Given the description of an element on the screen output the (x, y) to click on. 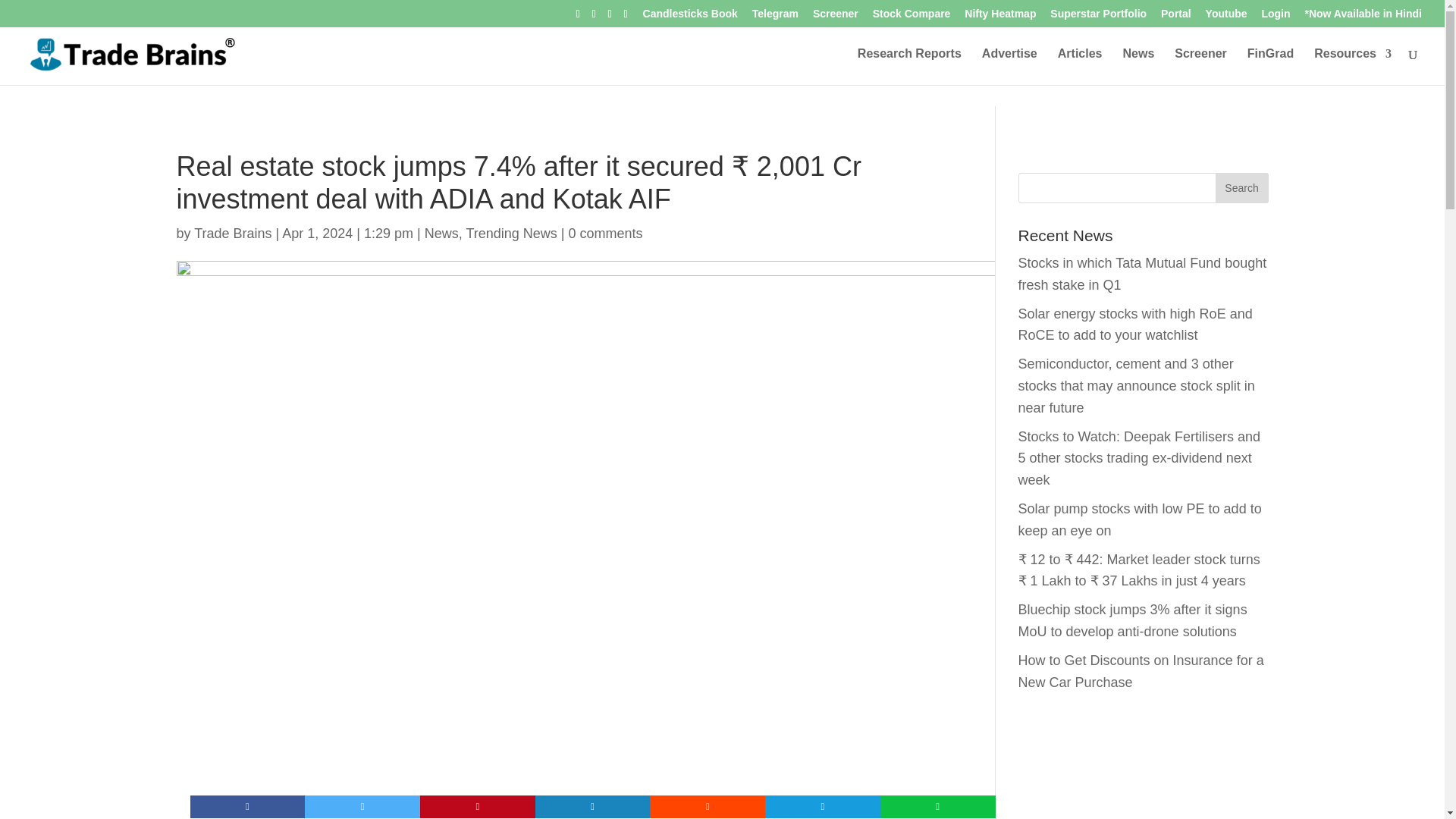
Resources (1352, 66)
Candlesticks Book (690, 16)
Trade Brains (231, 233)
Stock Compare (911, 16)
Telegram (774, 16)
Research Reports (908, 66)
Advertise (1008, 66)
Articles (1080, 66)
Youtube (1226, 16)
Nifty Heatmap (999, 16)
